Given the description of an element on the screen output the (x, y) to click on. 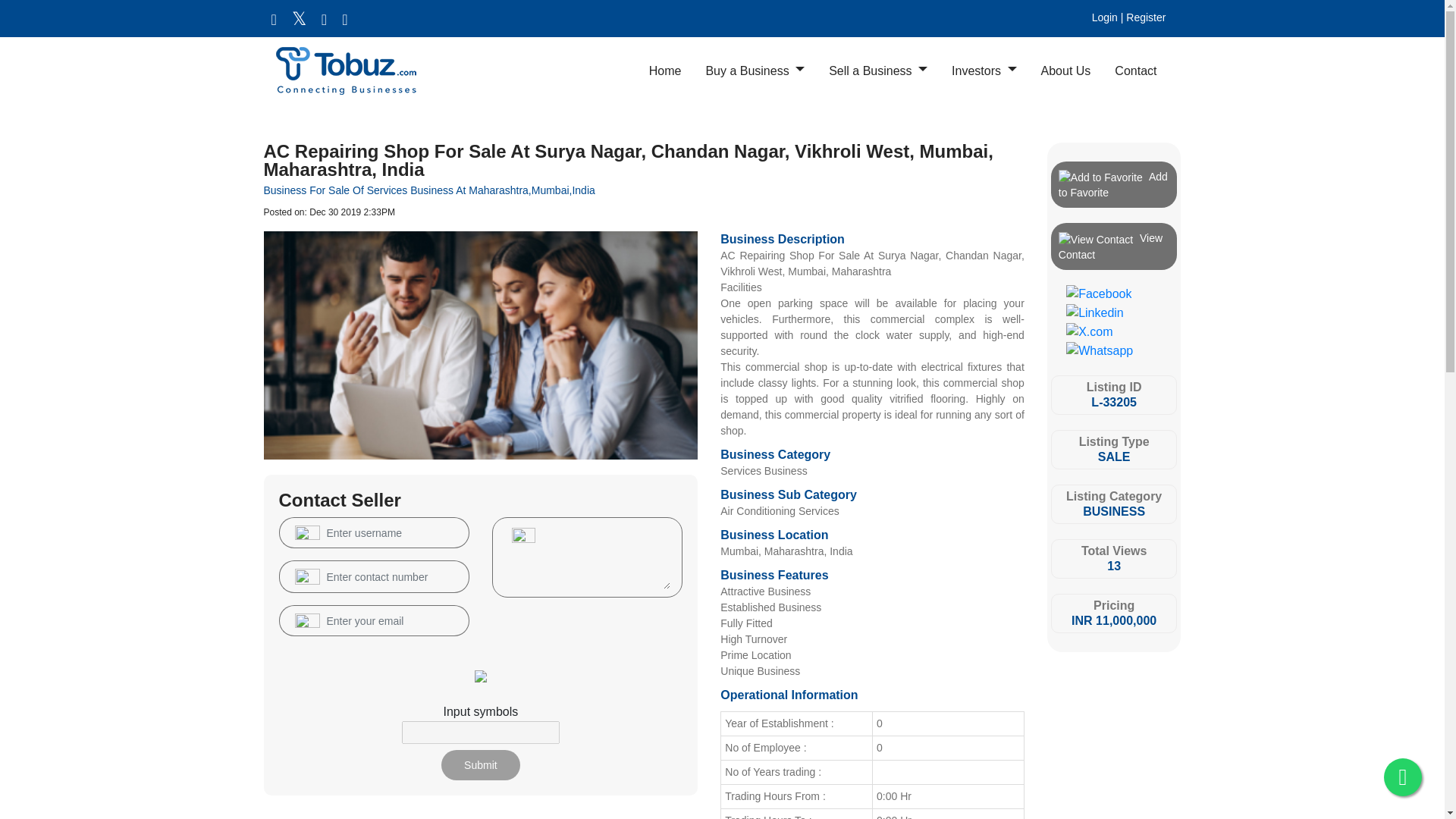
Sell a Business (877, 71)
Share on Facebook (1098, 293)
Investors (983, 71)
View Contact (1095, 239)
Tobuz (346, 70)
Whatsapp (1098, 351)
View Contact (1114, 245)
Facebook (1098, 294)
Buy a Business (754, 71)
Contact (1135, 71)
